Given the description of an element on the screen output the (x, y) to click on. 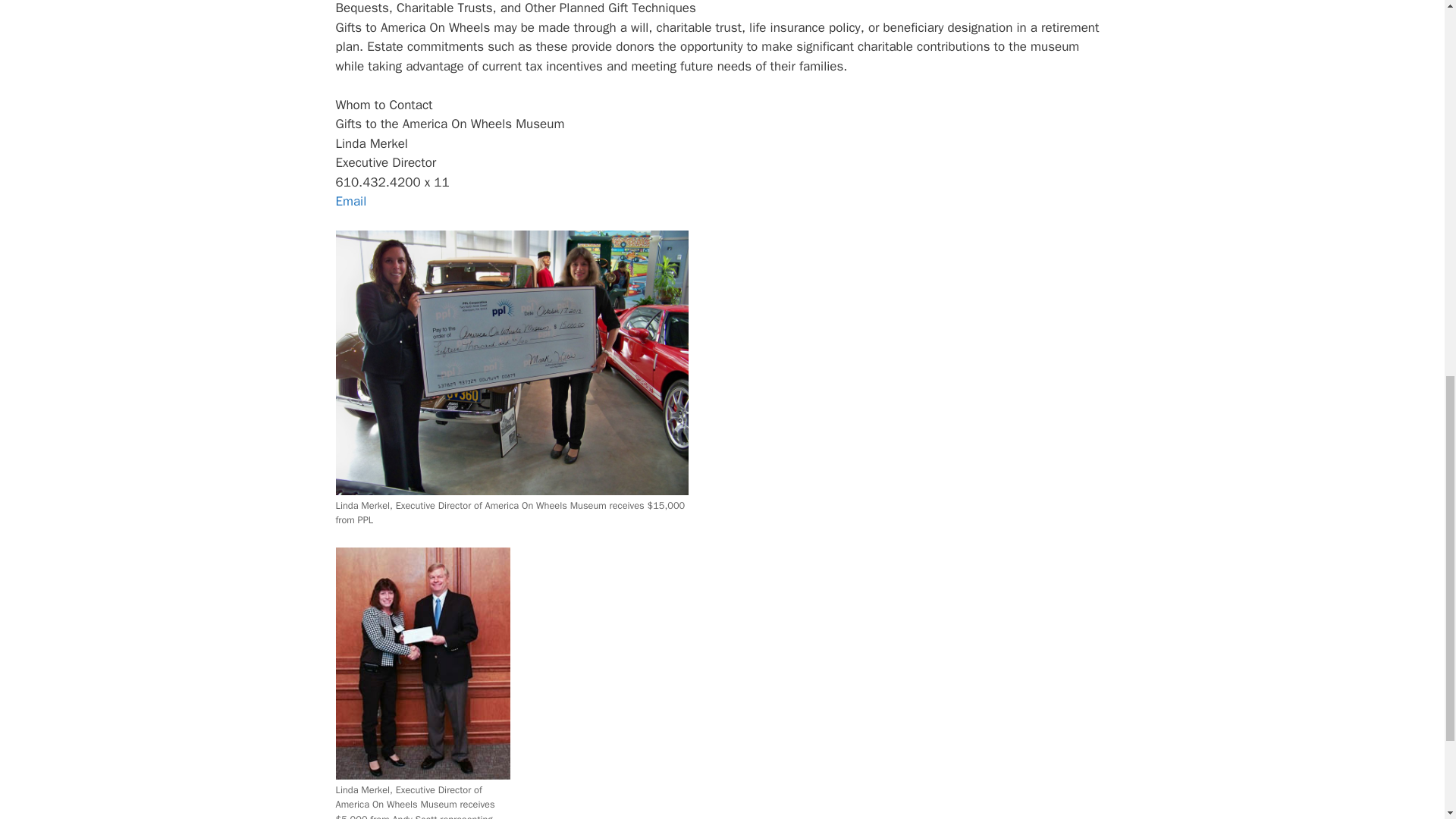
Contact (350, 201)
